Given the description of an element on the screen output the (x, y) to click on. 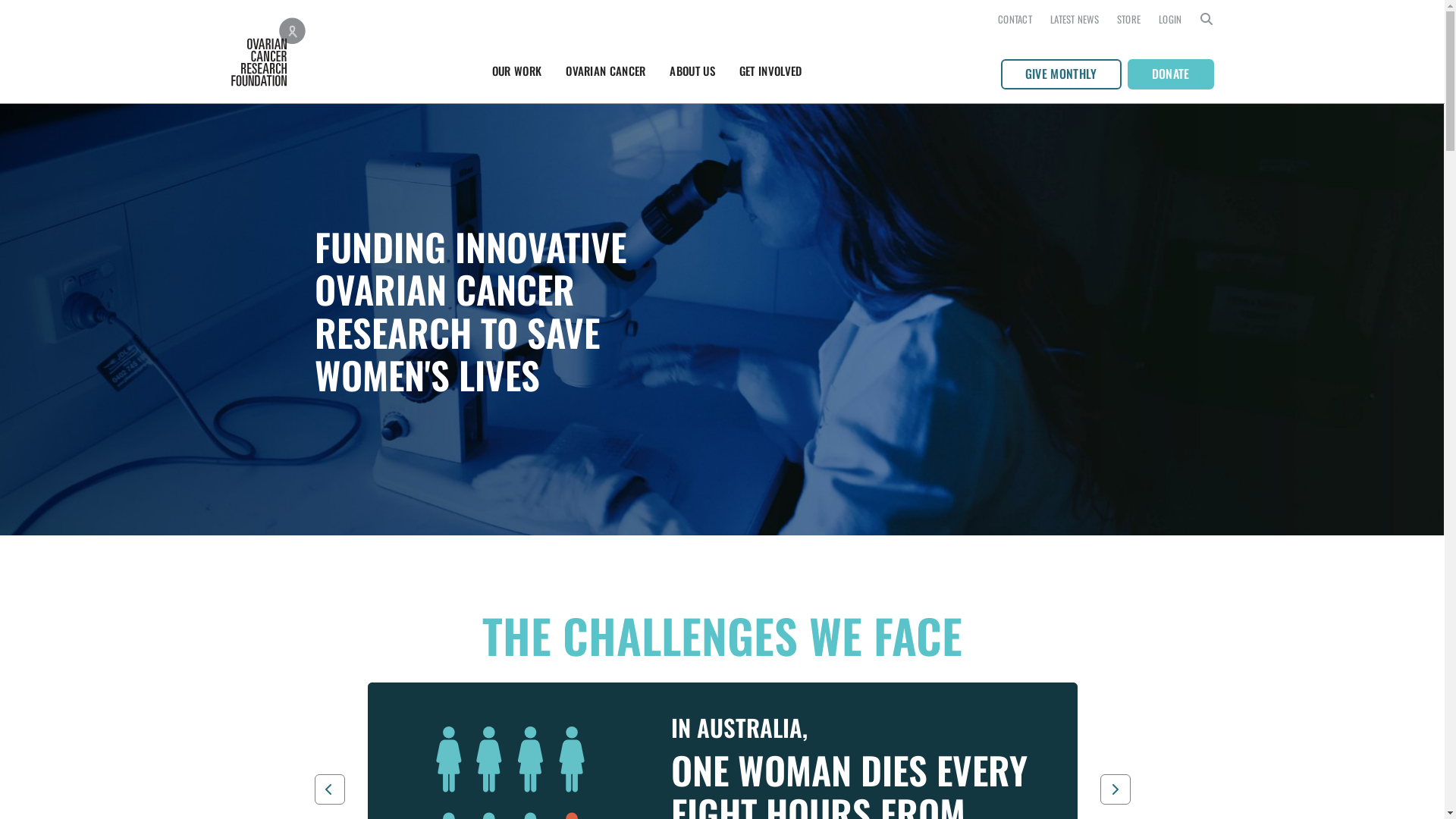
CONTACT Element type: text (1014, 19)
OUR WORK Element type: text (516, 70)
LOGIN Element type: text (1169, 19)
DONATE Element type: text (1170, 74)
LATEST NEWS Element type: text (1074, 19)
GET INVOLVED Element type: text (770, 70)
GIVE MONTHLY Element type: text (1061, 74)
OVARIAN CANCER Element type: text (605, 70)
STORE Element type: text (1128, 19)
ABOUT US Element type: text (691, 70)
